Given the description of an element on the screen output the (x, y) to click on. 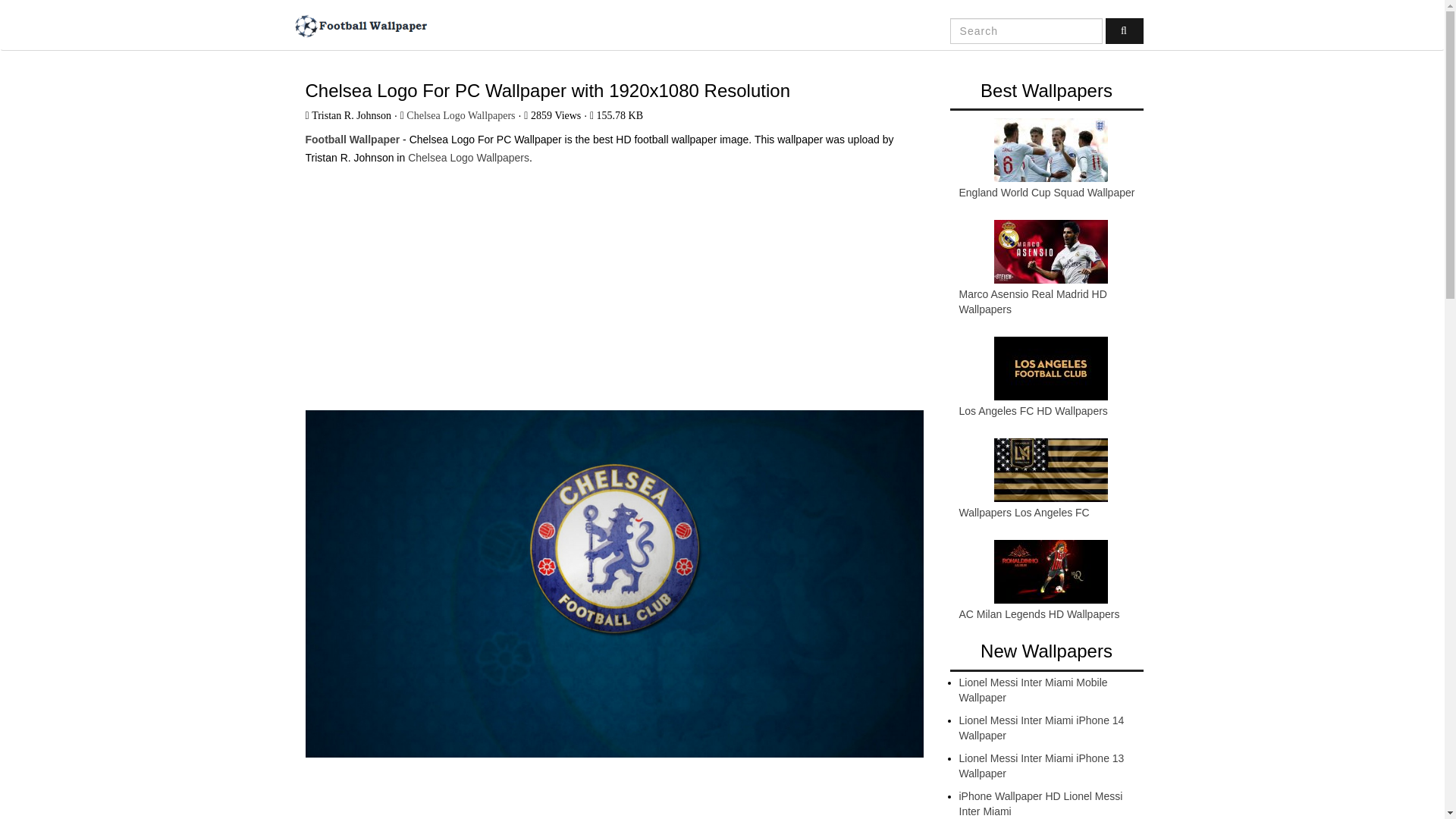
Football Wallpaper (359, 26)
Marco Asensio Real Madrid HD Wallpapers (1032, 301)
Search for: (1026, 31)
Chelsea Logo Wallpapers (468, 157)
Advertisement (613, 281)
England World Cup Squad Wallpaper (1046, 192)
Chelsea Logo Wallpapers (460, 115)
Advertisement (613, 799)
